Given the description of an element on the screen output the (x, y) to click on. 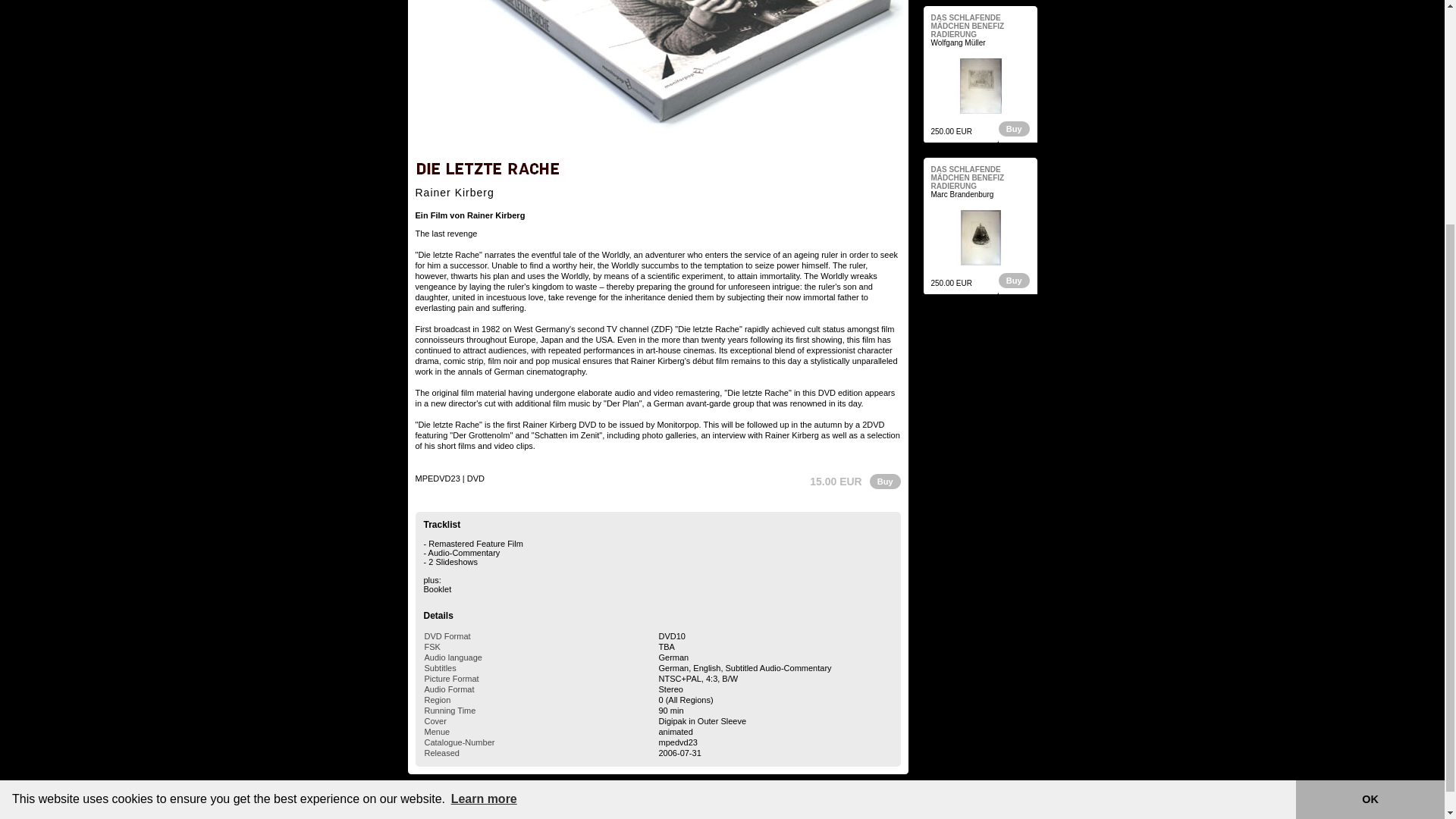
Buy (885, 481)
Buy (1014, 128)
Buy (1014, 279)
Deutsch (620, 792)
Learn more (483, 490)
Imprint (544, 792)
Datenschutz (581, 792)
